Given the description of an element on the screen output the (x, y) to click on. 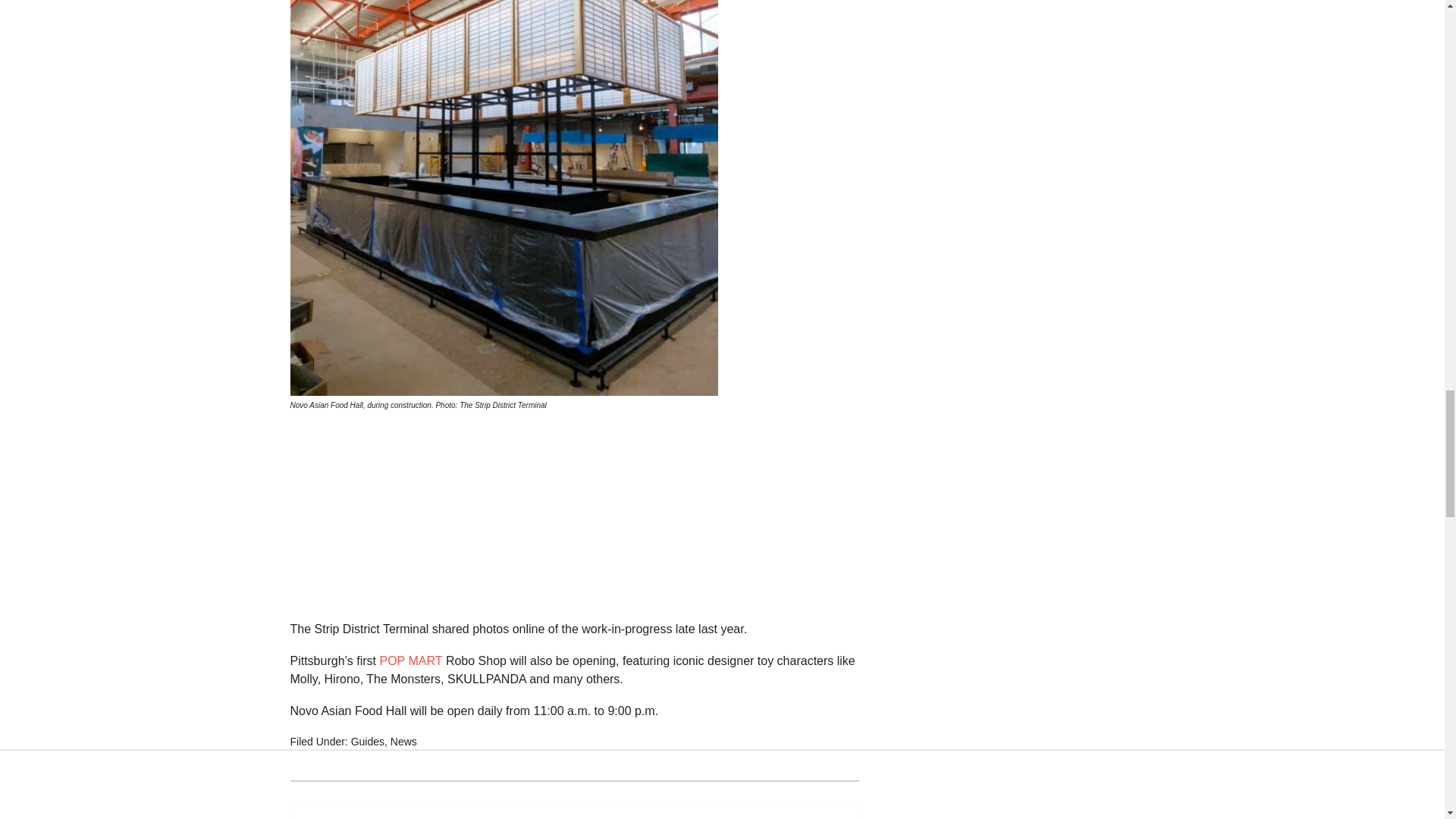
Guides (367, 741)
News (403, 741)
POP MART (410, 660)
